Given the description of an element on the screen output the (x, y) to click on. 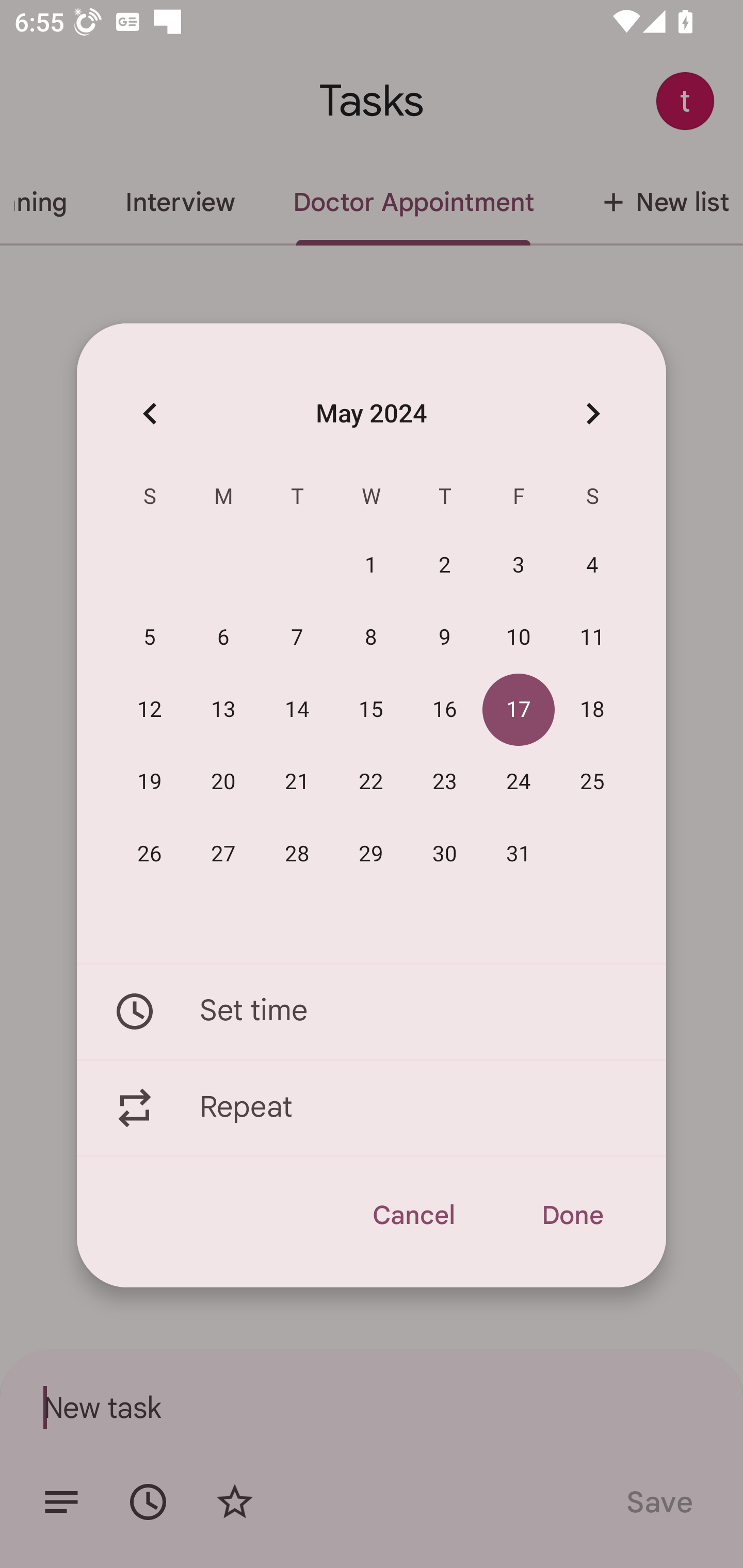
Previous month (149, 413)
Next month (592, 413)
1 01 May 2024 (370, 565)
2 02 May 2024 (444, 565)
3 03 May 2024 (518, 565)
4 04 May 2024 (592, 565)
5 05 May 2024 (149, 638)
6 06 May 2024 (223, 638)
7 07 May 2024 (297, 638)
8 08 May 2024 (370, 638)
9 09 May 2024 (444, 638)
10 10 May 2024 (518, 638)
11 11 May 2024 (592, 638)
12 12 May 2024 (149, 710)
13 13 May 2024 (223, 710)
14 14 May 2024 (297, 710)
15 15 May 2024 (370, 710)
16 16 May 2024 (444, 710)
17 17 May 2024 (518, 710)
18 18 May 2024 (592, 710)
19 19 May 2024 (149, 782)
20 20 May 2024 (223, 782)
21 21 May 2024 (297, 782)
22 22 May 2024 (370, 782)
23 23 May 2024 (444, 782)
24 24 May 2024 (518, 782)
25 25 May 2024 (592, 782)
26 26 May 2024 (149, 854)
27 27 May 2024 (223, 854)
28 28 May 2024 (297, 854)
29 29 May 2024 (370, 854)
30 30 May 2024 (444, 854)
31 31 May 2024 (518, 854)
Set time (371, 1011)
Repeat (371, 1108)
Cancel (412, 1215)
Done (571, 1215)
